Given the description of an element on the screen output the (x, y) to click on. 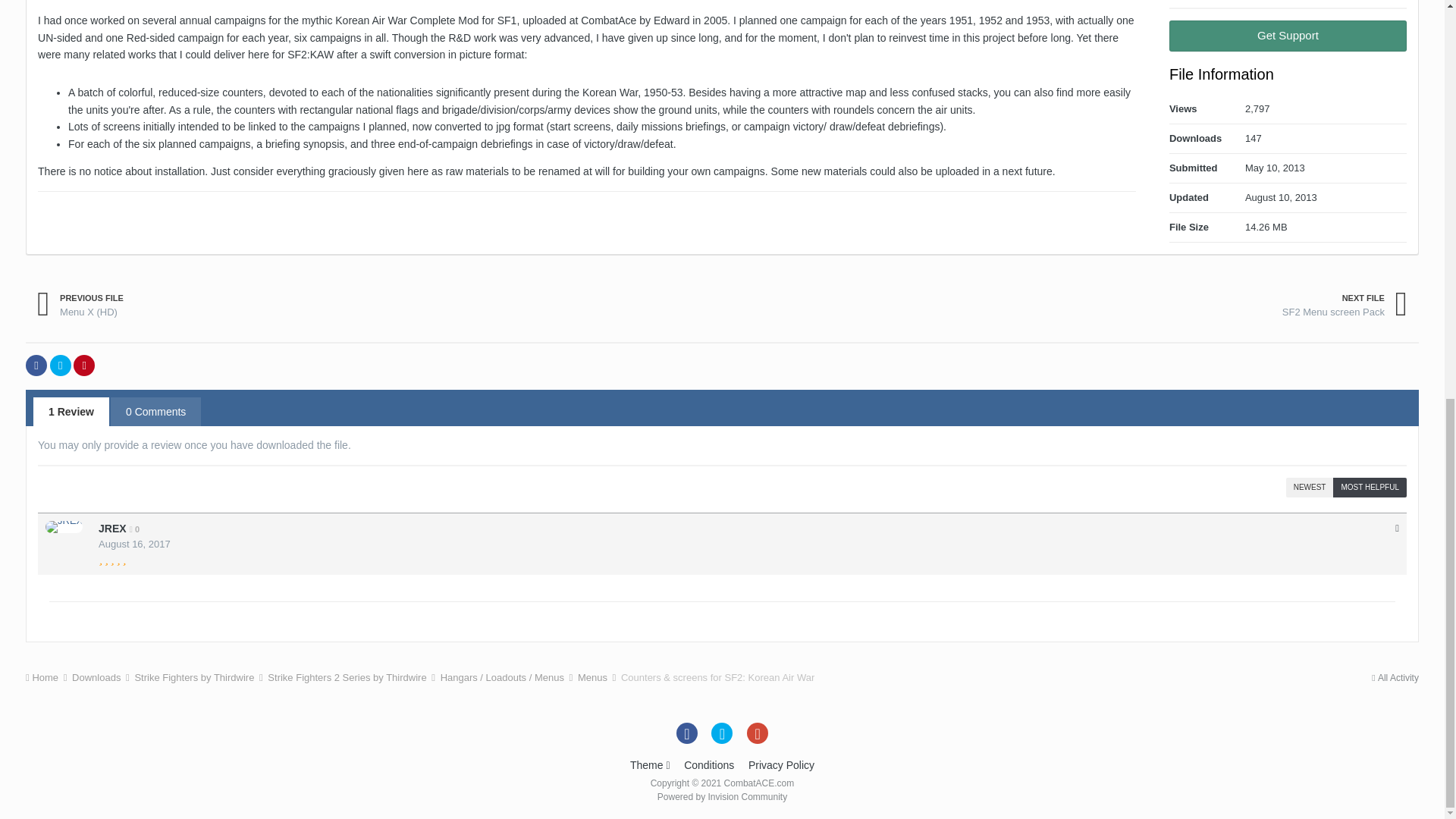
Share on Pinterest (84, 364)
Share on Twitter (60, 364)
Share on Facebook (36, 364)
Next File (1344, 305)
Get support for this download (1287, 35)
Go to JREX's profile (63, 526)
1 Review (71, 411)
Previous File (80, 305)
0 Comments (155, 411)
